Given the description of an element on the screen output the (x, y) to click on. 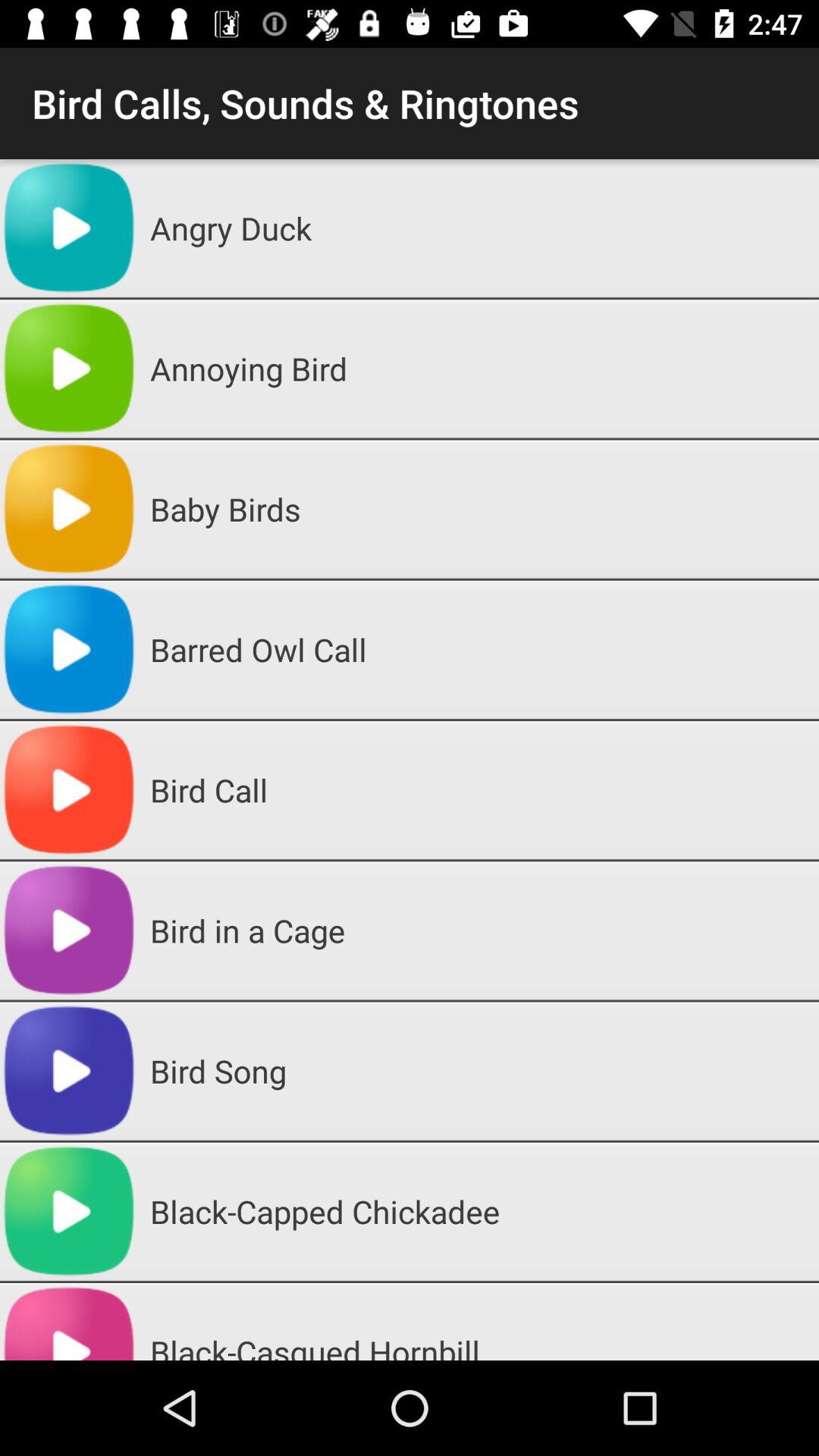
jump to barred owl call item (478, 649)
